Given the description of an element on the screen output the (x, y) to click on. 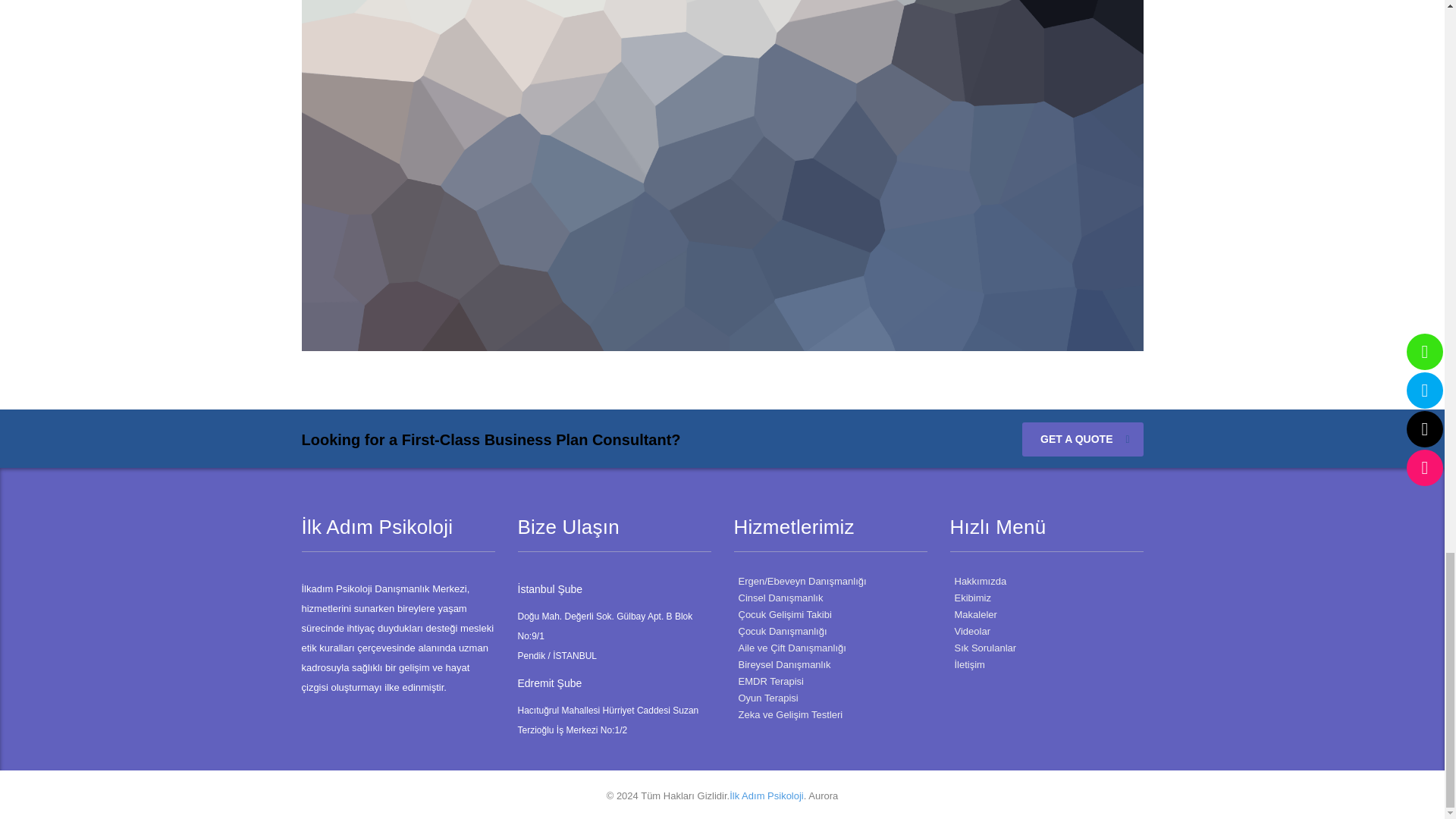
GET A QUOTE (1082, 439)
